Given the description of an element on the screen output the (x, y) to click on. 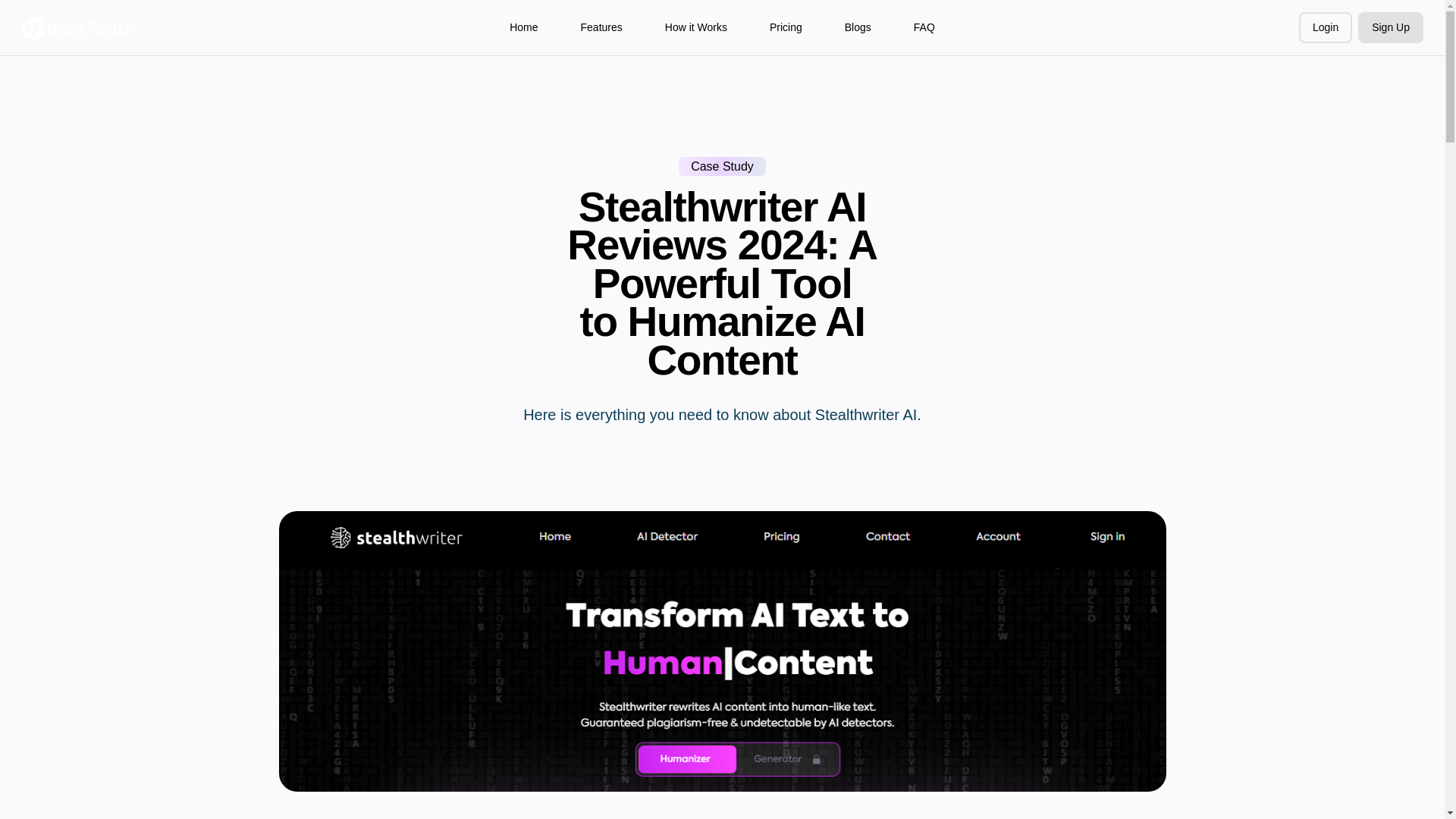
FAQ (924, 27)
Sign Up (1390, 27)
Login (1325, 27)
Case Study (721, 166)
How it Works (695, 27)
Pricing (786, 27)
Home (523, 27)
Blogs (857, 27)
Features (601, 27)
